Given the description of an element on the screen output the (x, y) to click on. 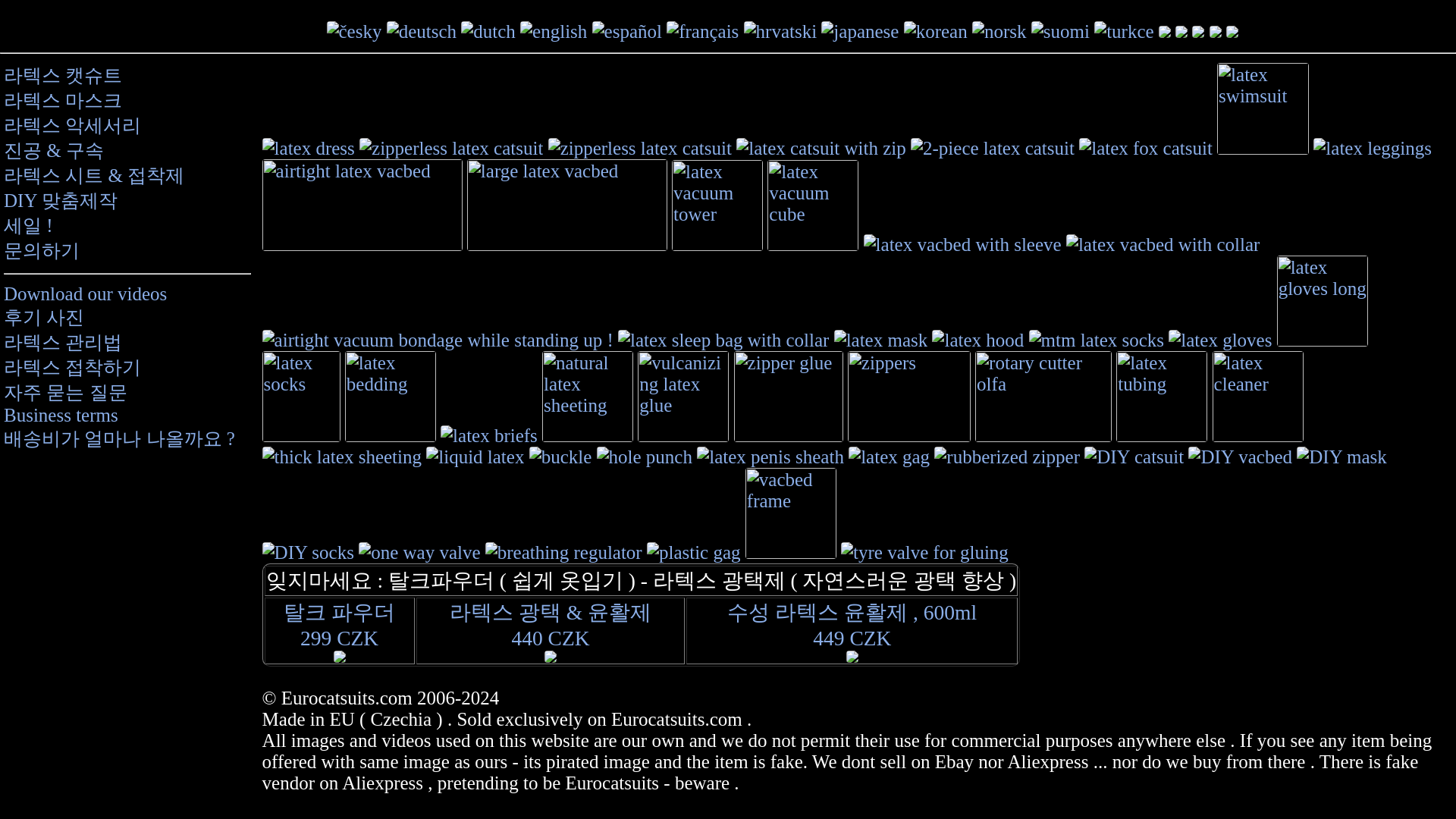
2-piece latex catsuit (992, 148)
latex fox catsuit (1145, 148)
latex leggings (1372, 148)
english (552, 31)
zipperless latex catsuit (451, 148)
zipperless latex catsuit (640, 148)
latex dress (308, 148)
latex catsuit with zip (820, 148)
korean (936, 31)
japanese (859, 31)
turkce (1123, 31)
norsk (999, 31)
Business terms (127, 414)
dutch (488, 31)
deutsch (422, 31)
